Given the description of an element on the screen output the (x, y) to click on. 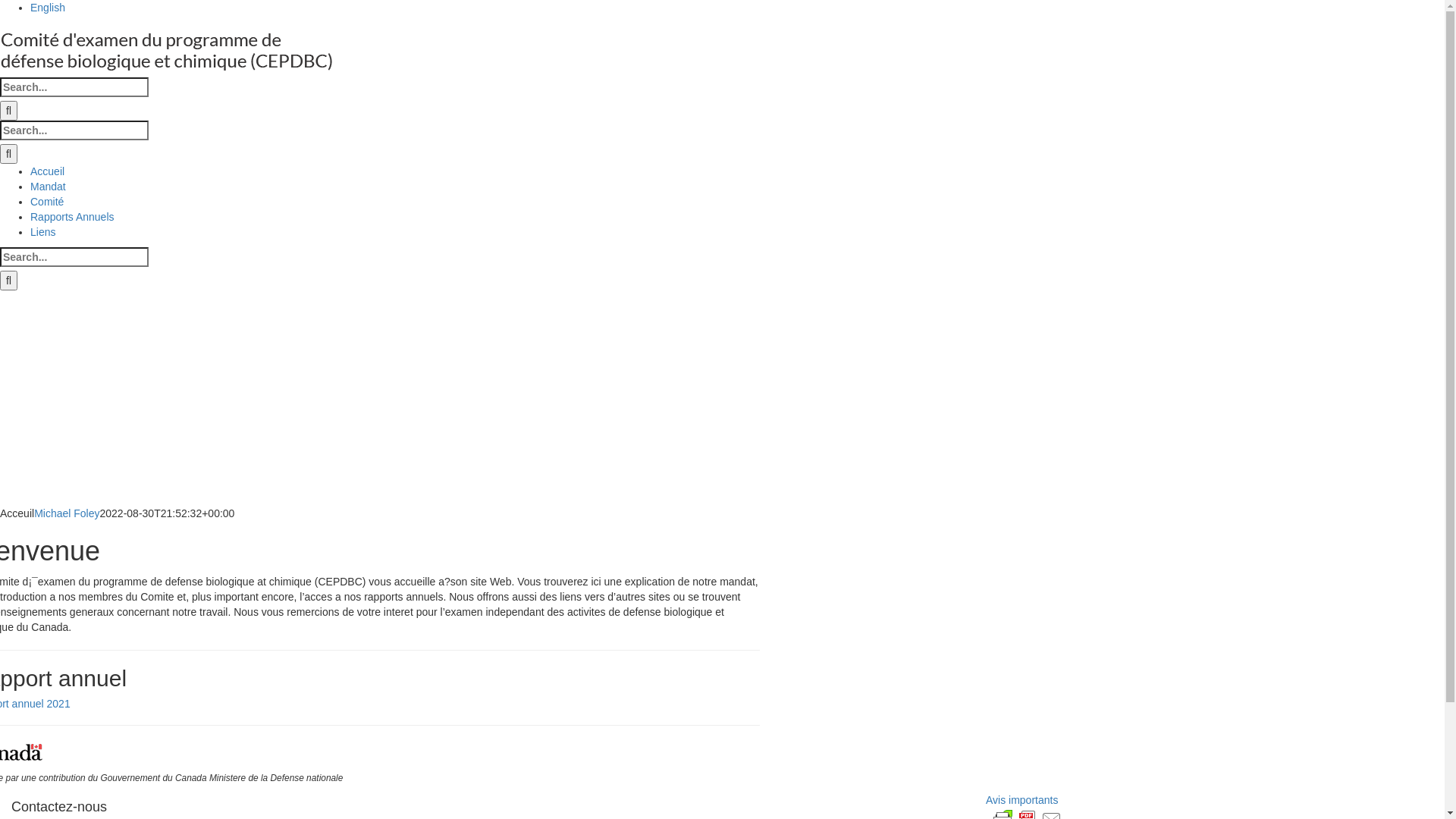
Mandat Element type: text (47, 186)
Avis importants Element type: text (1021, 799)
Michael Foley Element type: text (66, 513)
Liens Element type: text (42, 231)
Rapports Annuels Element type: text (72, 216)
English Element type: text (737, 7)
Accueil Element type: text (47, 171)
